Given the description of an element on the screen output the (x, y) to click on. 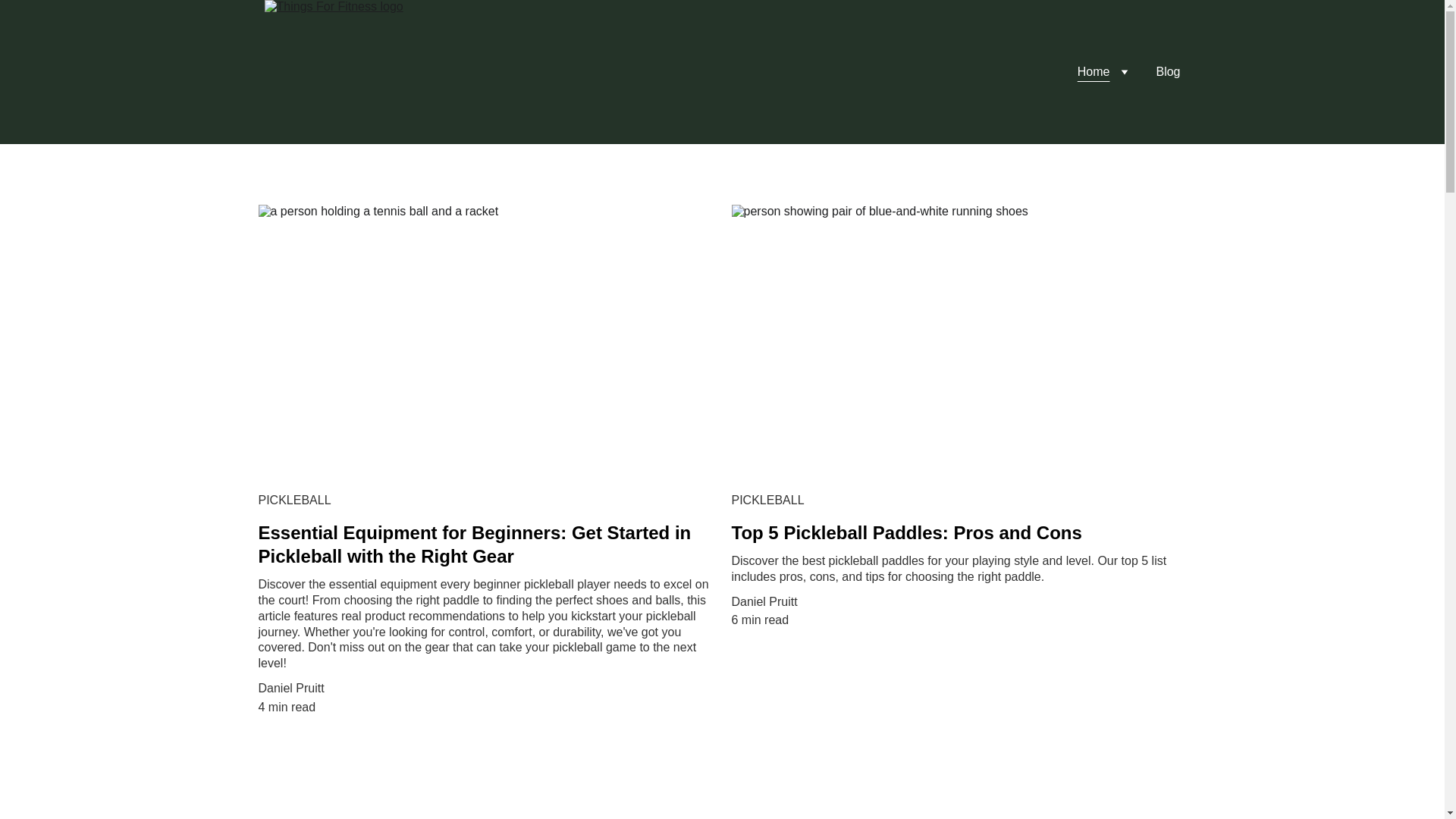
Blog (1167, 72)
Home (1093, 72)
